Given the description of an element on the screen output the (x, y) to click on. 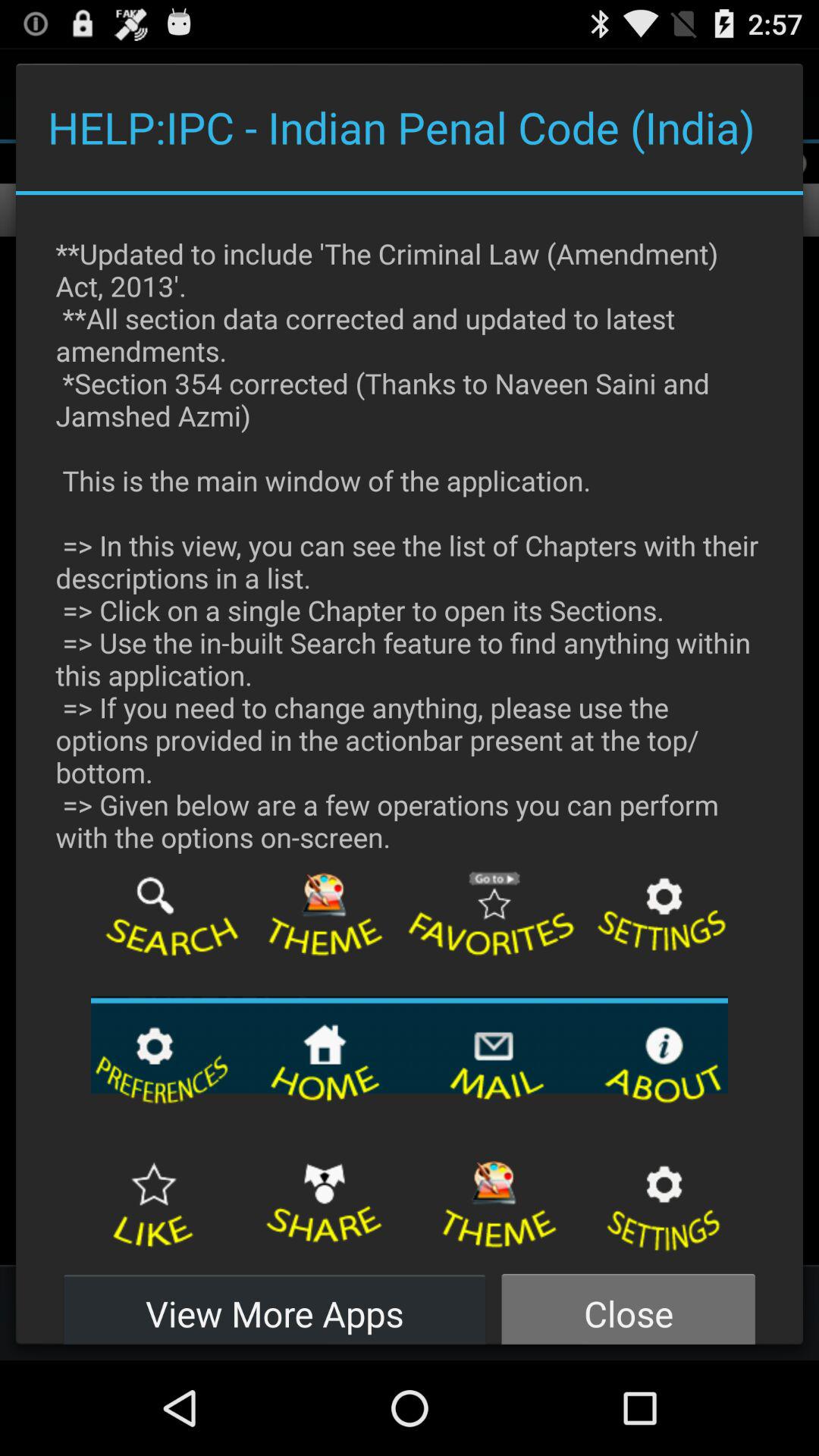
launch icon next to the view more apps icon (628, 1305)
